Given the description of an element on the screen output the (x, y) to click on. 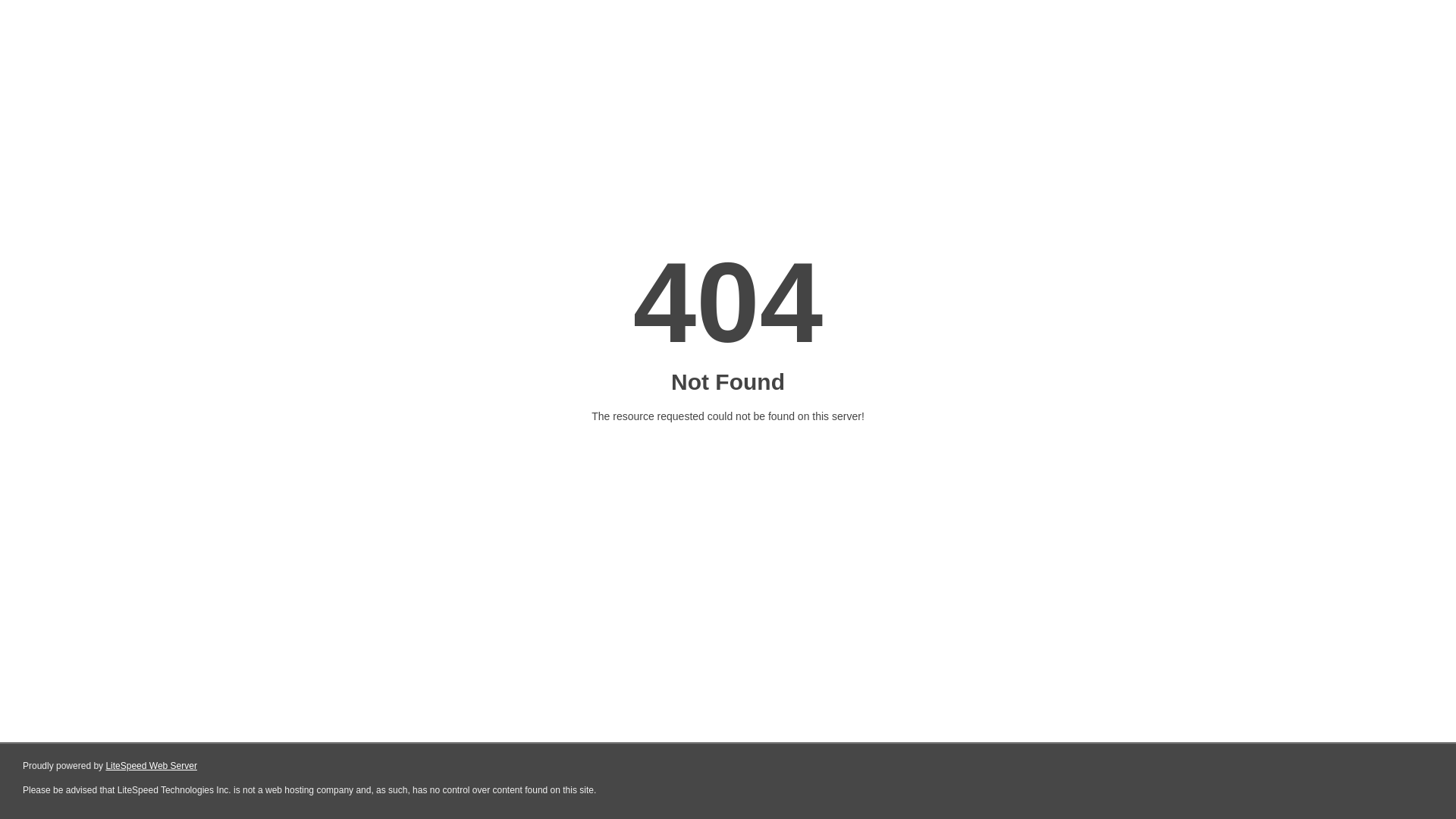
LiteSpeed Web Server Element type: text (151, 765)
